Given the description of an element on the screen output the (x, y) to click on. 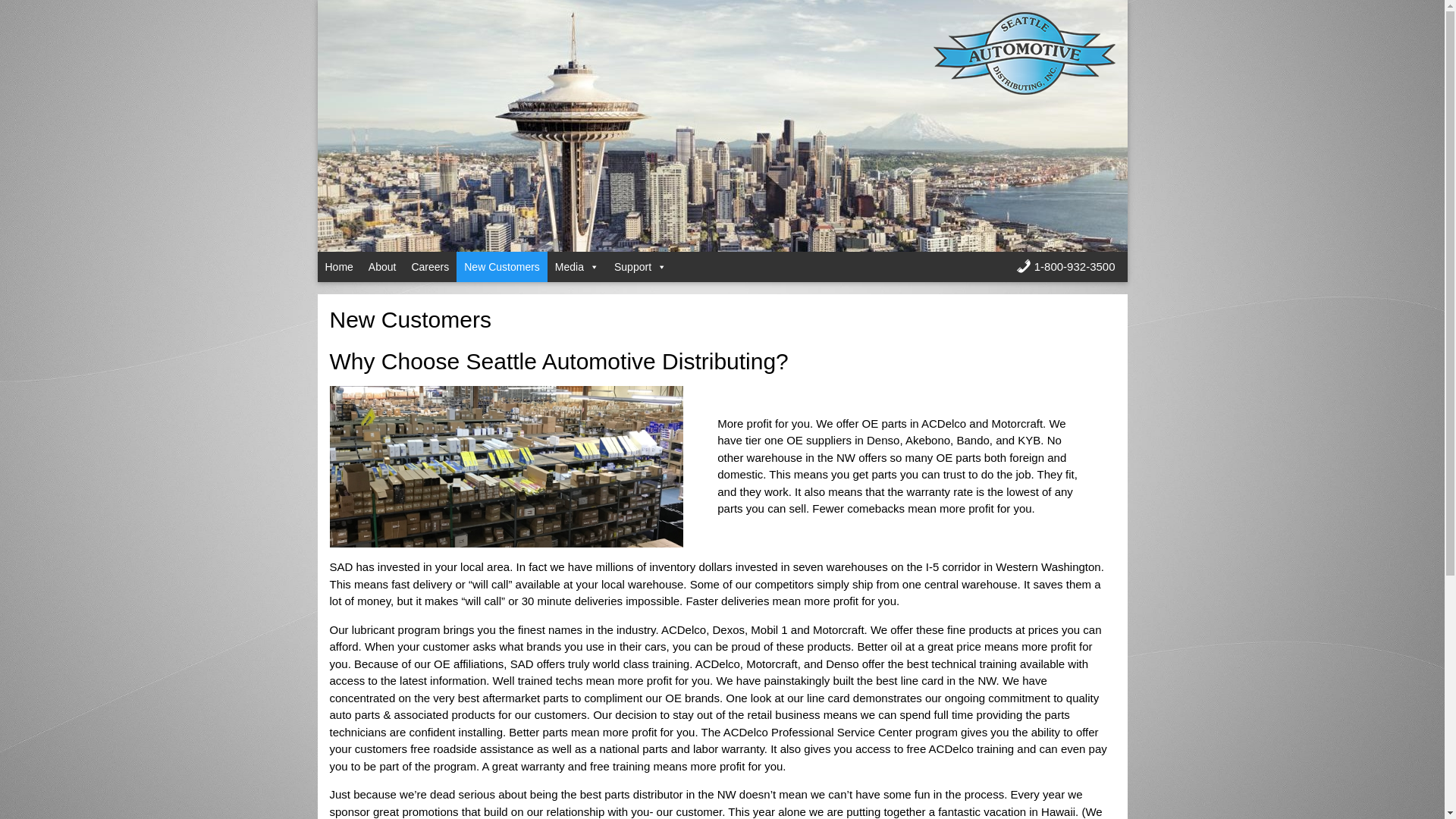
Media (577, 266)
Support (640, 266)
Careers (430, 266)
About (382, 266)
Home (338, 266)
New Customers (502, 266)
